Given the description of an element on the screen output the (x, y) to click on. 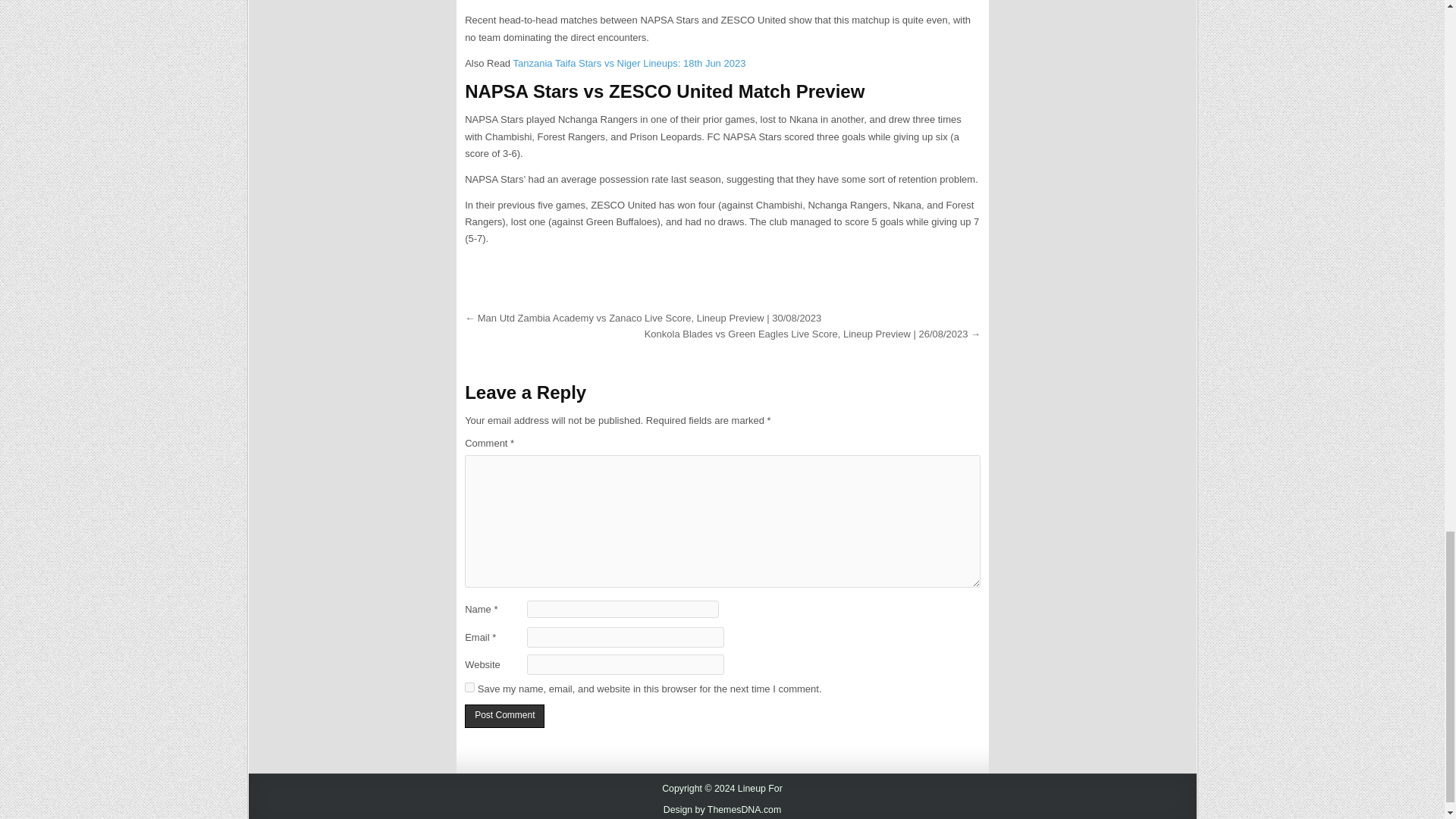
Post Comment (504, 716)
Tanzania Taifa Stars vs Niger Lineups: 18th Jun 2023 (628, 62)
yes (469, 687)
